Given the description of an element on the screen output the (x, y) to click on. 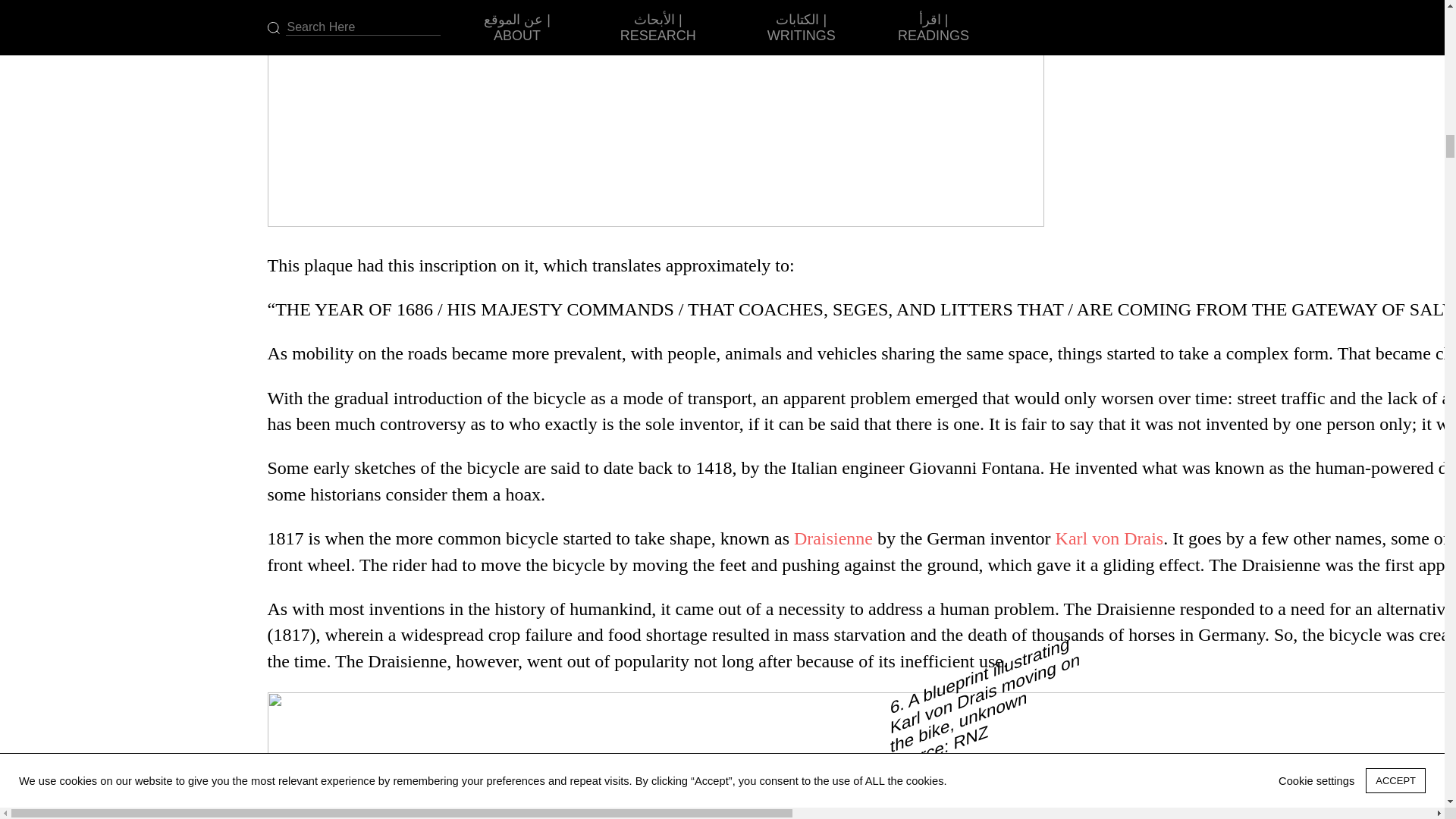
Karl von Drais (1109, 537)
Draisienne (832, 537)
